Given the description of an element on the screen output the (x, y) to click on. 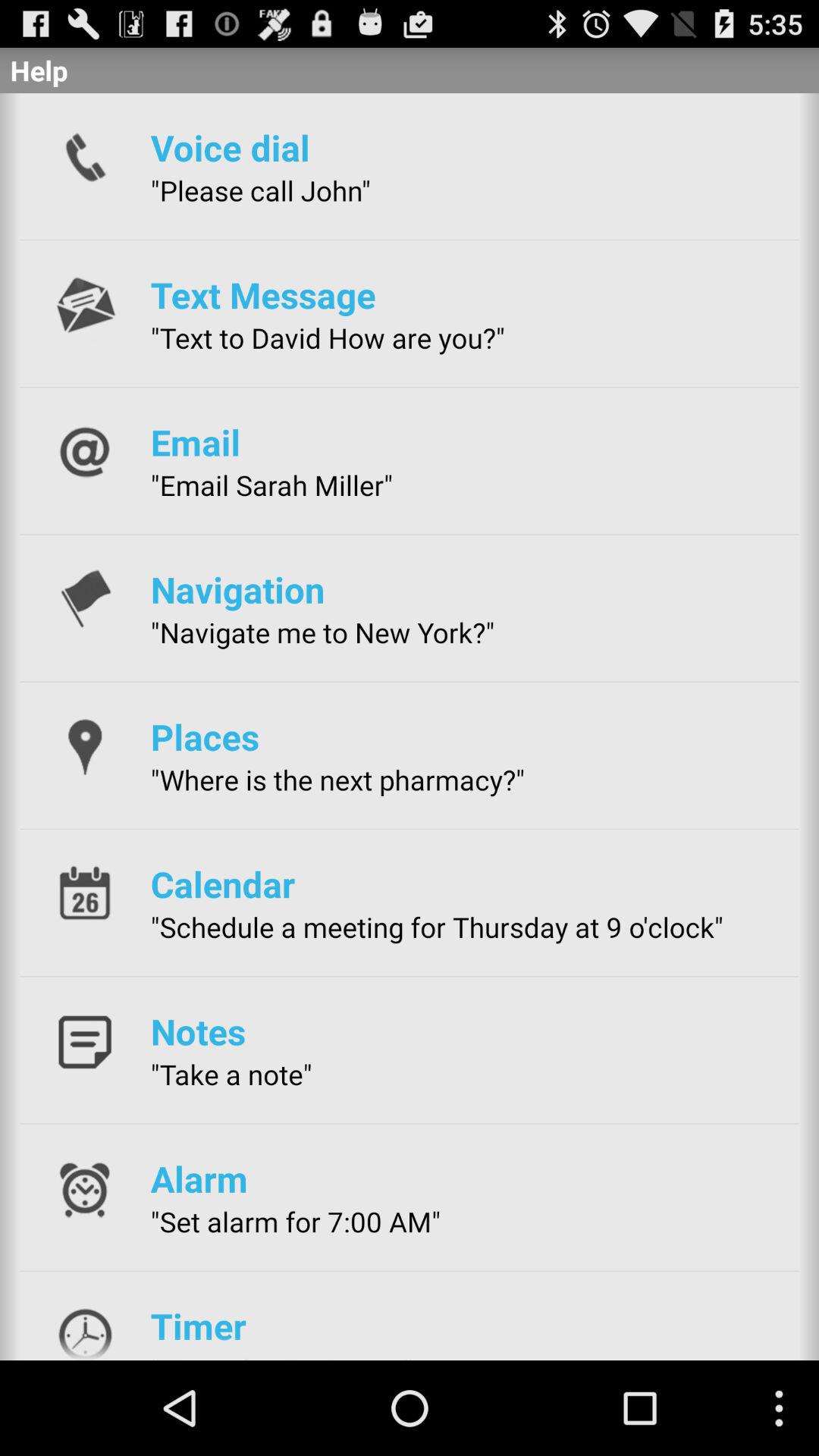
flip until the notes (197, 1031)
